Given the description of an element on the screen output the (x, y) to click on. 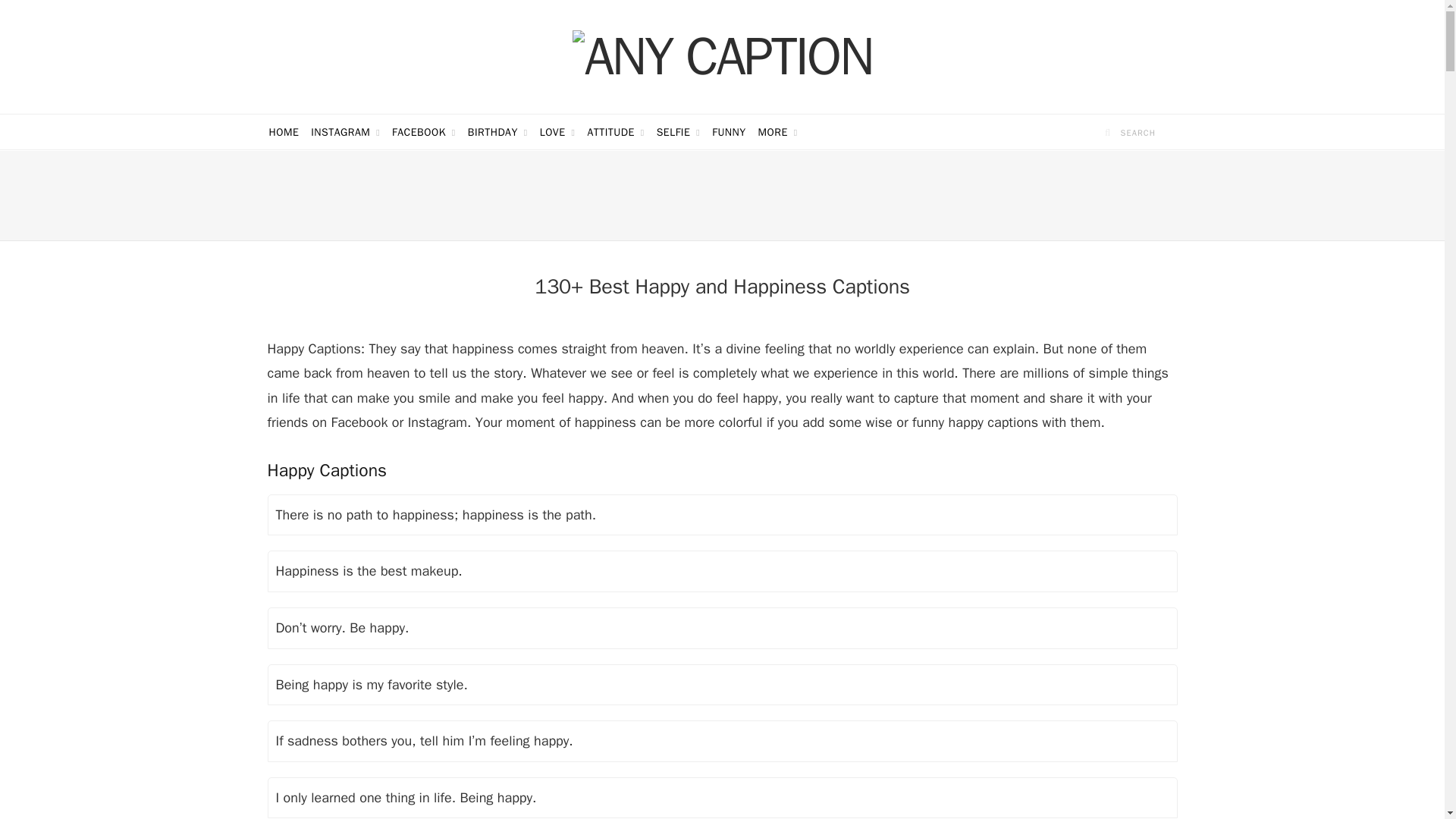
SELFIE (678, 132)
ATTITUDE (614, 132)
FACEBOOK (423, 132)
FUNNY (728, 132)
Any Caption (722, 56)
MORE (777, 132)
BIRTHDAY (497, 132)
HOME (283, 132)
INSTAGRAM (344, 132)
LOVE (557, 132)
